Given the description of an element on the screen output the (x, y) to click on. 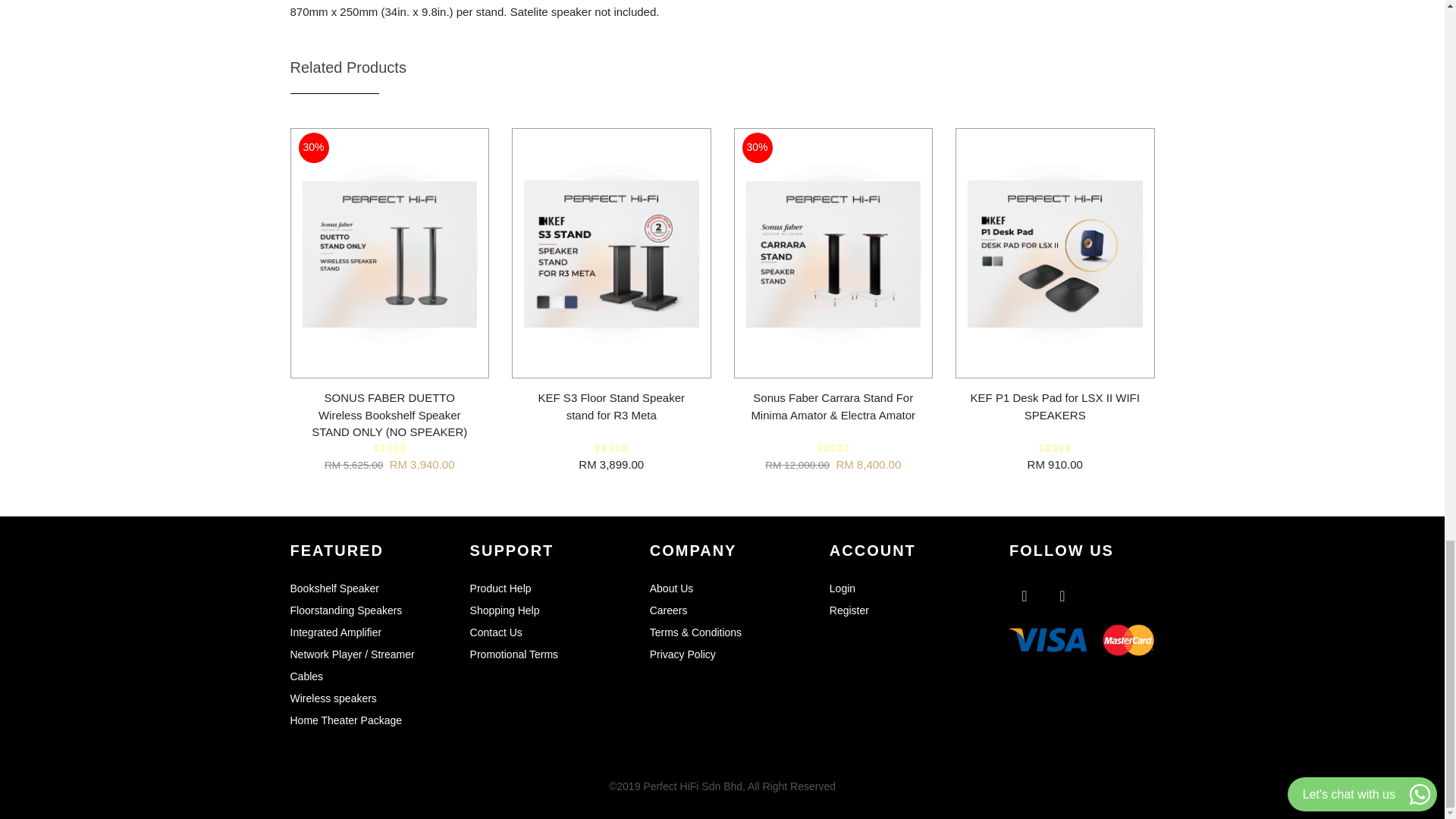
KEF S3 Floor Stand Speaker stand for R3 Meta (611, 406)
Instagram (1061, 595)
Facebook (1024, 595)
KEF P1 Desk Pad for LSX II WIFI SPEAKERS (1055, 406)
